Given the description of an element on the screen output the (x, y) to click on. 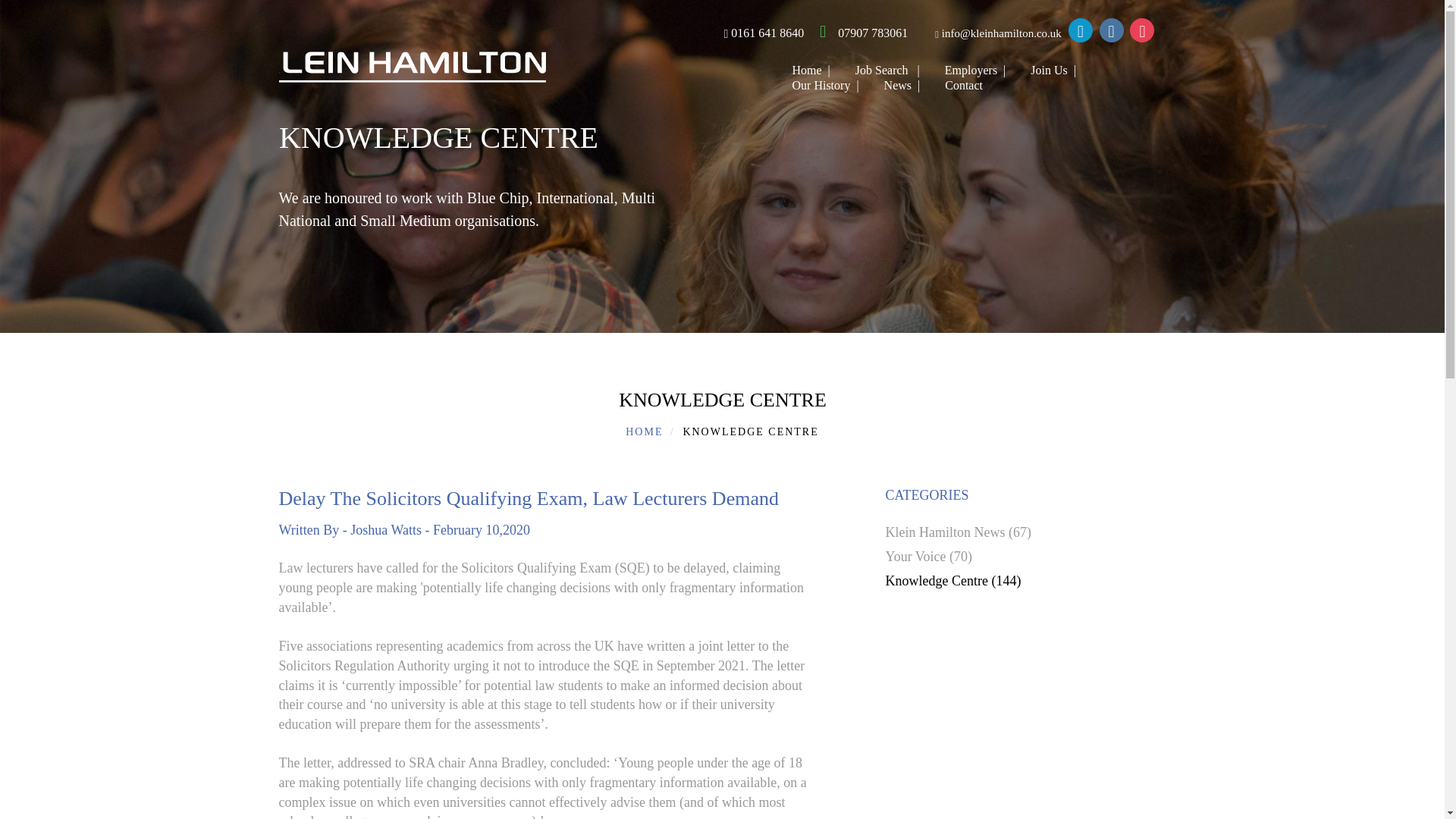
Home (804, 70)
07907 783061 (858, 32)
Job Search (880, 70)
Employers (968, 70)
HOME (644, 431)
0161 641 8640 (753, 32)
News (895, 85)
Our History (818, 85)
Join Us (1046, 70)
Contact (954, 85)
